Given the description of an element on the screen output the (x, y) to click on. 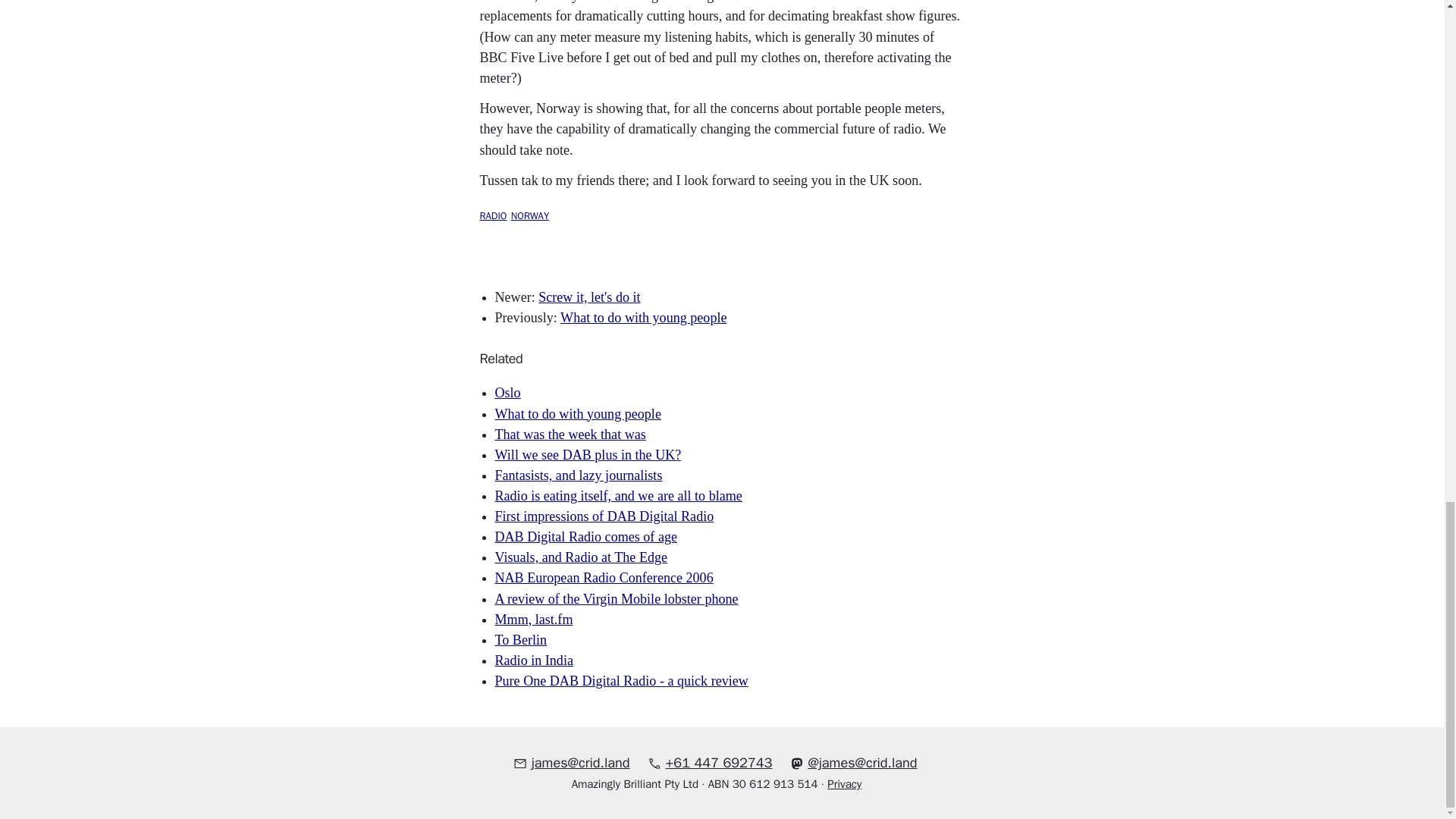
To Berlin (521, 639)
Pure One DAB Digital Radio - a quick review (621, 680)
Privacy (849, 783)
Radio in India (533, 660)
NAB European Radio Conference 2006 (604, 577)
Will we see DAB plus in the UK? (588, 454)
What to do with young people (578, 413)
Oslo (507, 392)
First impressions of DAB Digital Radio (604, 516)
Mmm, last.fm (533, 619)
Radio is eating itself, and we are all to blame (618, 495)
DAB Digital Radio comes of age (586, 536)
Fantasists, and lazy journalists (578, 475)
radio (492, 214)
norway (529, 214)
